Given the description of an element on the screen output the (x, y) to click on. 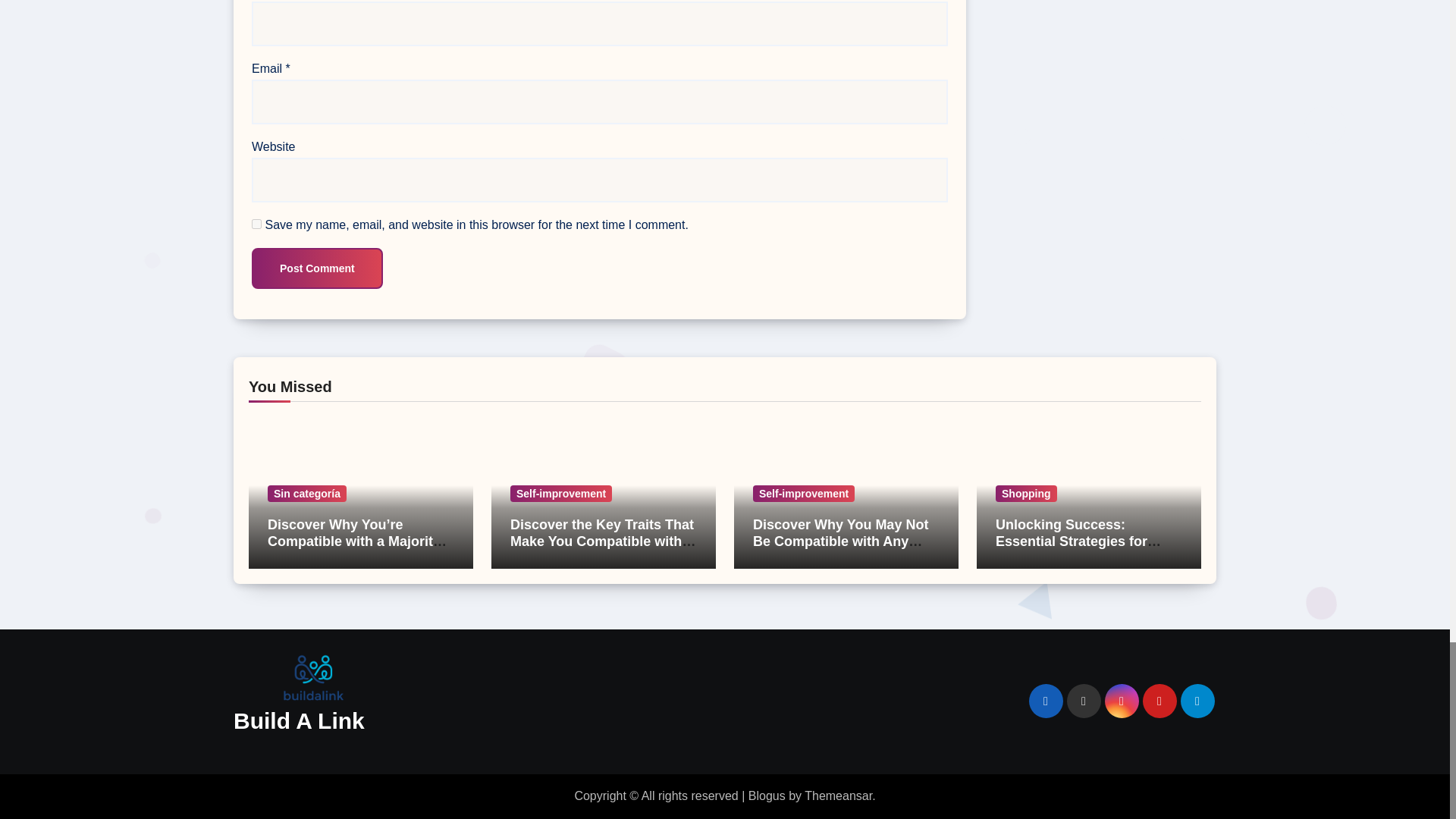
Post Comment (316, 268)
yes (256, 224)
